Given the description of an element on the screen output the (x, y) to click on. 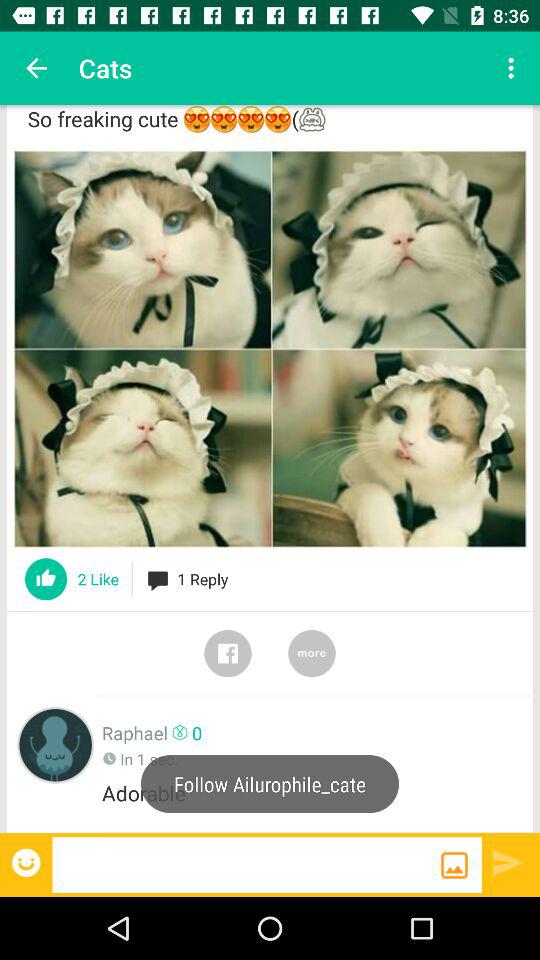
more content (312, 653)
